Given the description of an element on the screen output the (x, y) to click on. 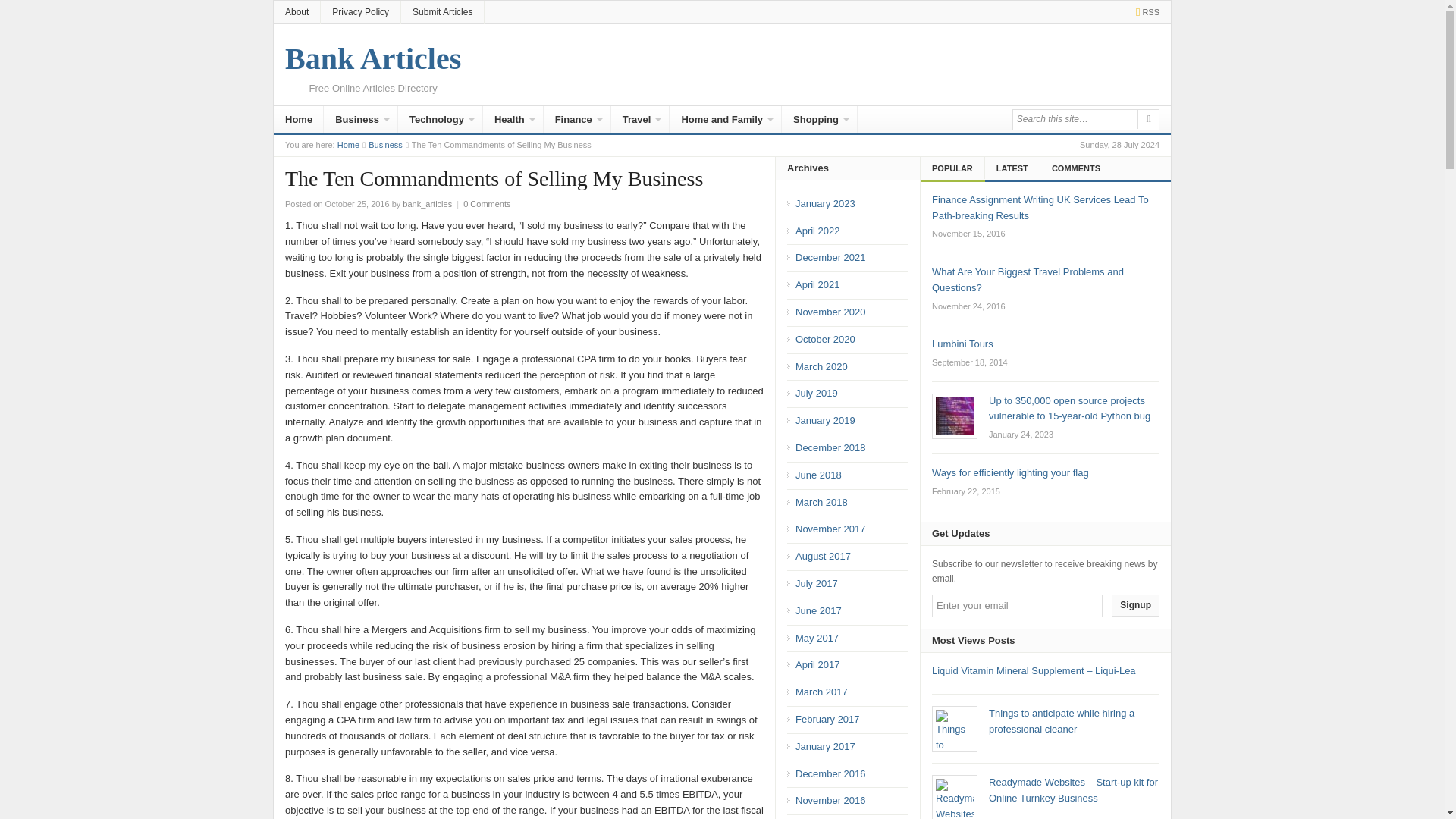
Business (385, 144)
Latest (1018, 167)
RSS (1143, 11)
Bank Articles (348, 144)
Bank Articles (373, 58)
Comments (1081, 167)
Submit Articles (442, 11)
About (296, 11)
Home (298, 120)
Privacy Policy (360, 11)
Popular (958, 167)
RSS (1143, 11)
